Given the description of an element on the screen output the (x, y) to click on. 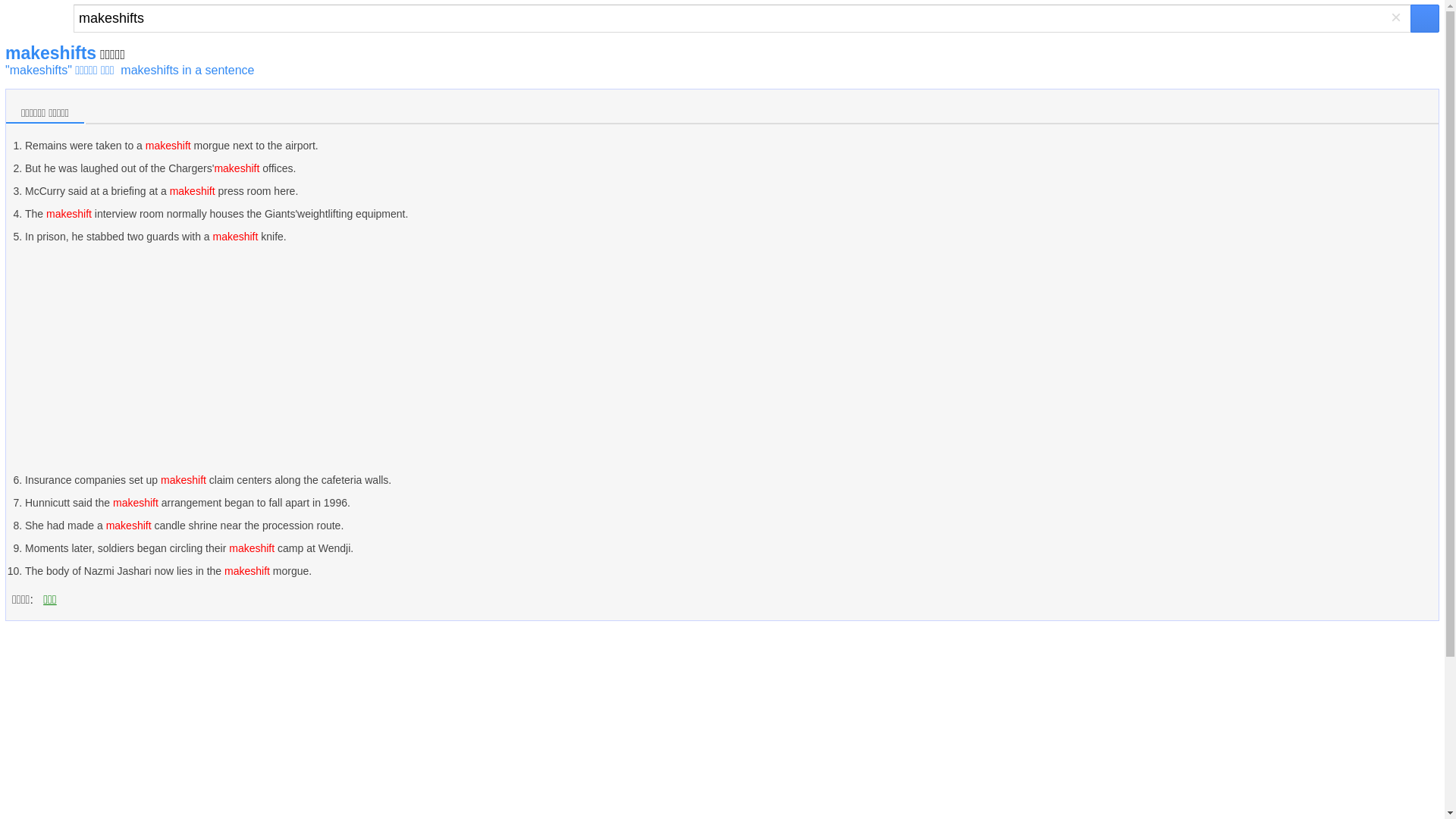
Search (742, 17)
makeshifts in a sentence (186, 69)
makeshifts (742, 17)
